Given the description of an element on the screen output the (x, y) to click on. 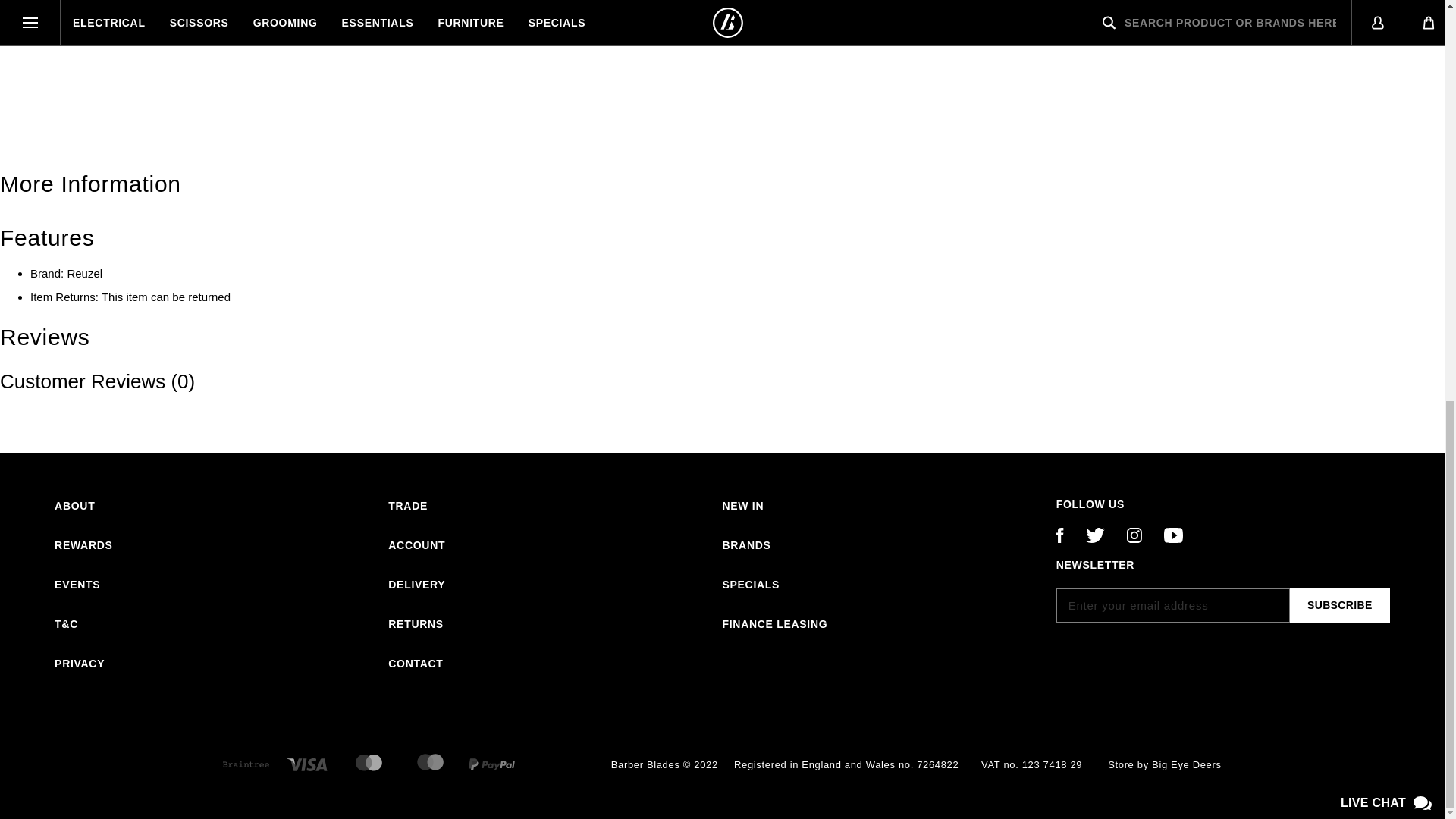
Account (416, 545)
Rewards (83, 545)
Returns (416, 624)
Delivery (416, 585)
Brands (746, 545)
Privacy (79, 663)
About (74, 506)
New In (742, 506)
Contact (415, 663)
Trade (408, 506)
